Given the description of an element on the screen output the (x, y) to click on. 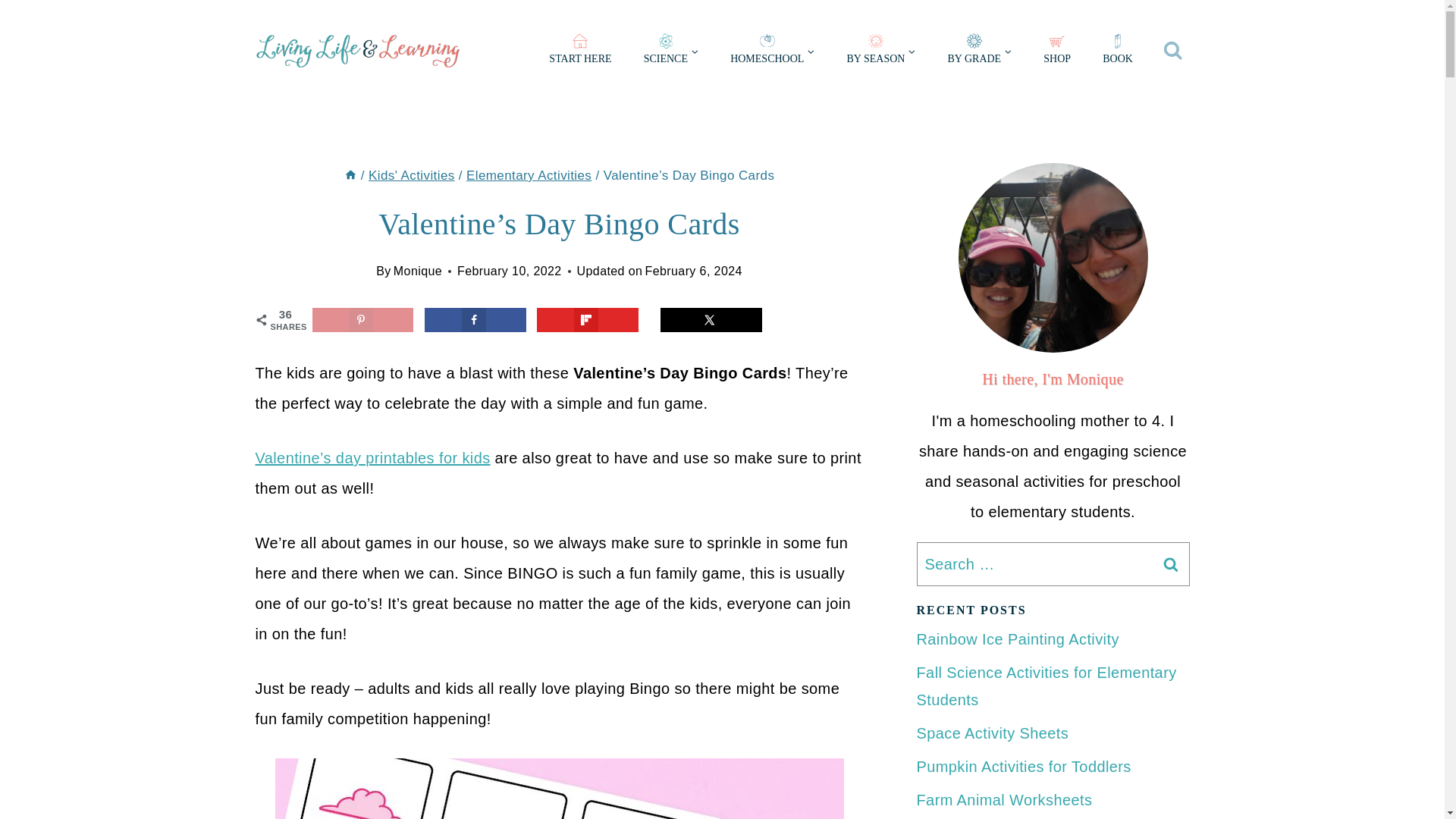
Science Activities (670, 51)
New to homeschool? Start here (579, 51)
Homeschool Planning Book (1117, 51)
Share on Flipboard (588, 319)
The Living Life and Learning Shop (1056, 51)
BY SEASON (880, 51)
Share on X (711, 319)
Home (349, 175)
Save to Pinterest (363, 319)
SCIENCE (670, 51)
